Given the description of an element on the screen output the (x, y) to click on. 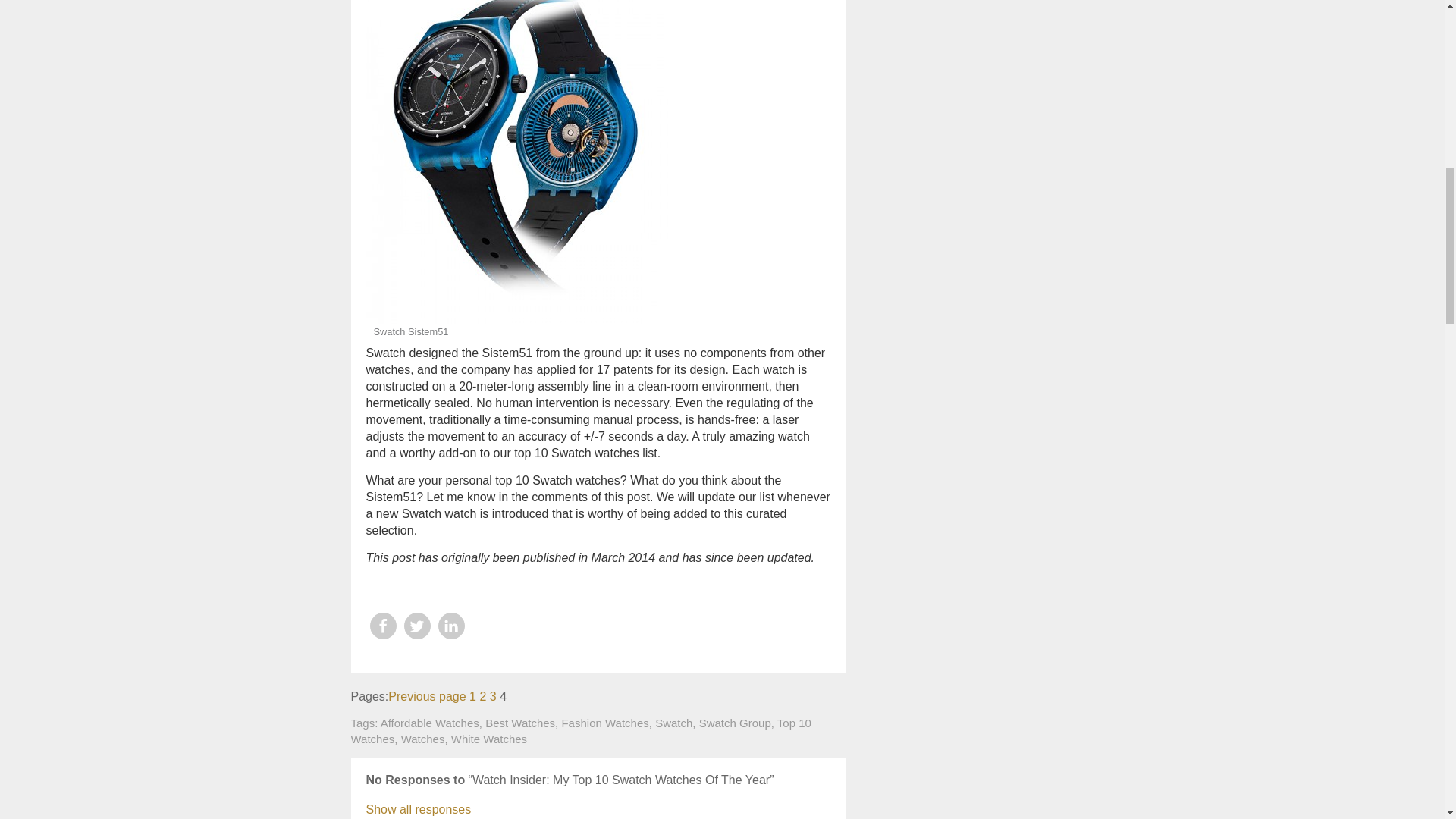
Share on Twitter (416, 625)
Share on Facebook (382, 625)
Share on LinkedIn (451, 625)
